Given the description of an element on the screen output the (x, y) to click on. 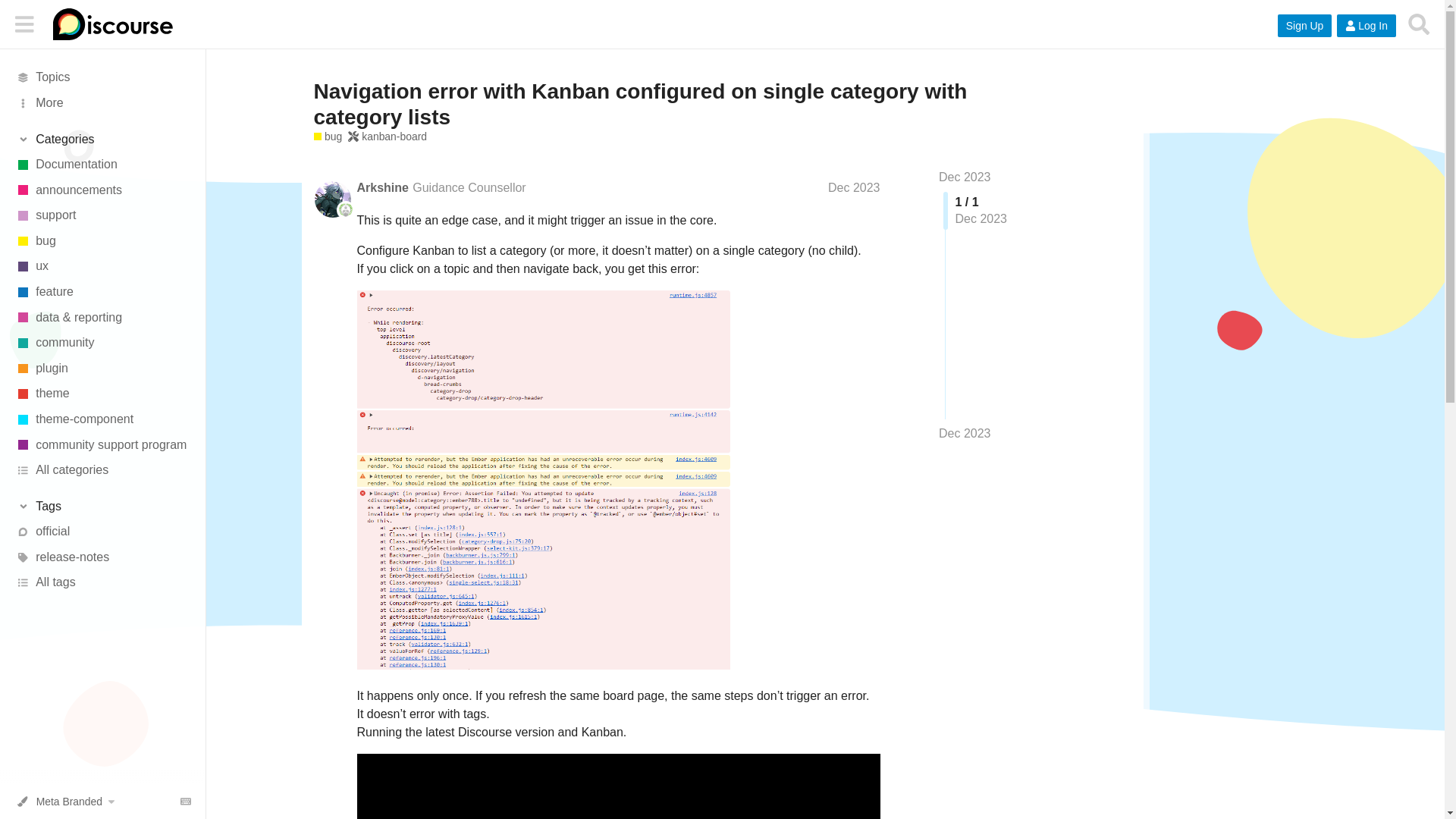
community support program (102, 444)
All tags (102, 583)
All topics (102, 77)
theme (102, 394)
bug (102, 240)
release-notes (102, 557)
The place for all Discourse announcements. (102, 190)
Arkshine (381, 187)
announcements (102, 190)
Dec 2023 (854, 186)
